Given the description of an element on the screen output the (x, y) to click on. 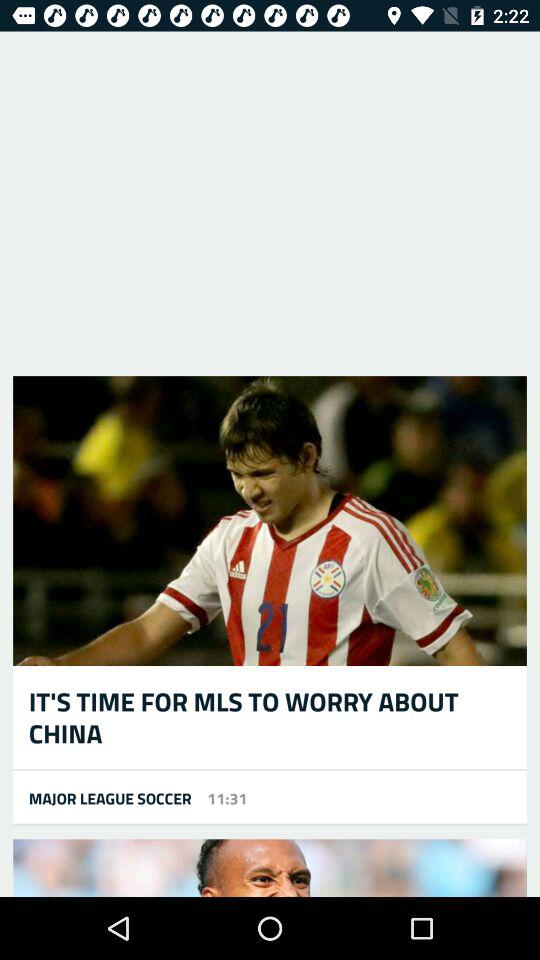
turn off major league soccer icon (102, 798)
